Given the description of an element on the screen output the (x, y) to click on. 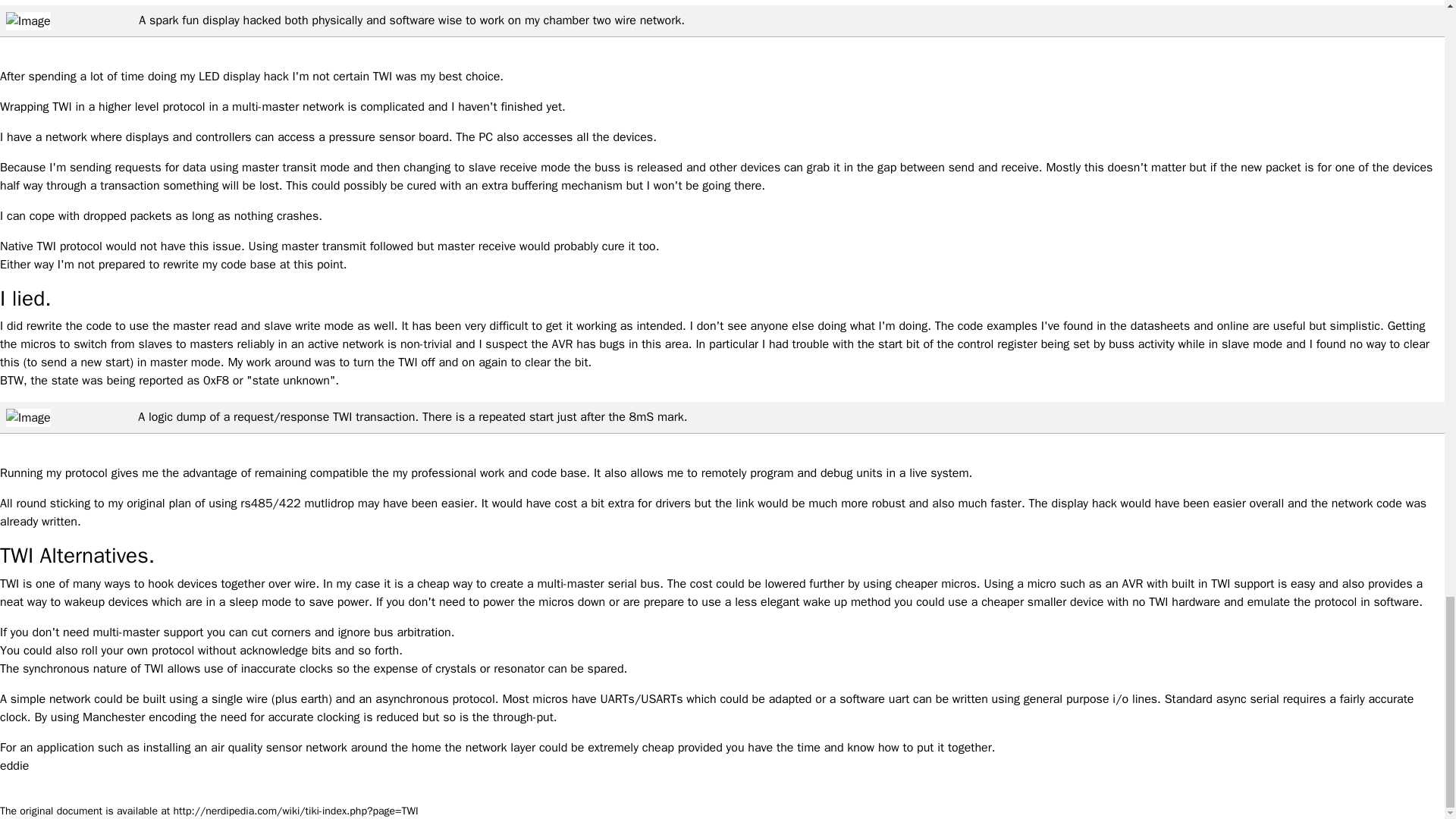
LED display hack (243, 75)
eddie's page. (14, 765)
LED display hack (243, 75)
eddie (14, 765)
